Given the description of an element on the screen output the (x, y) to click on. 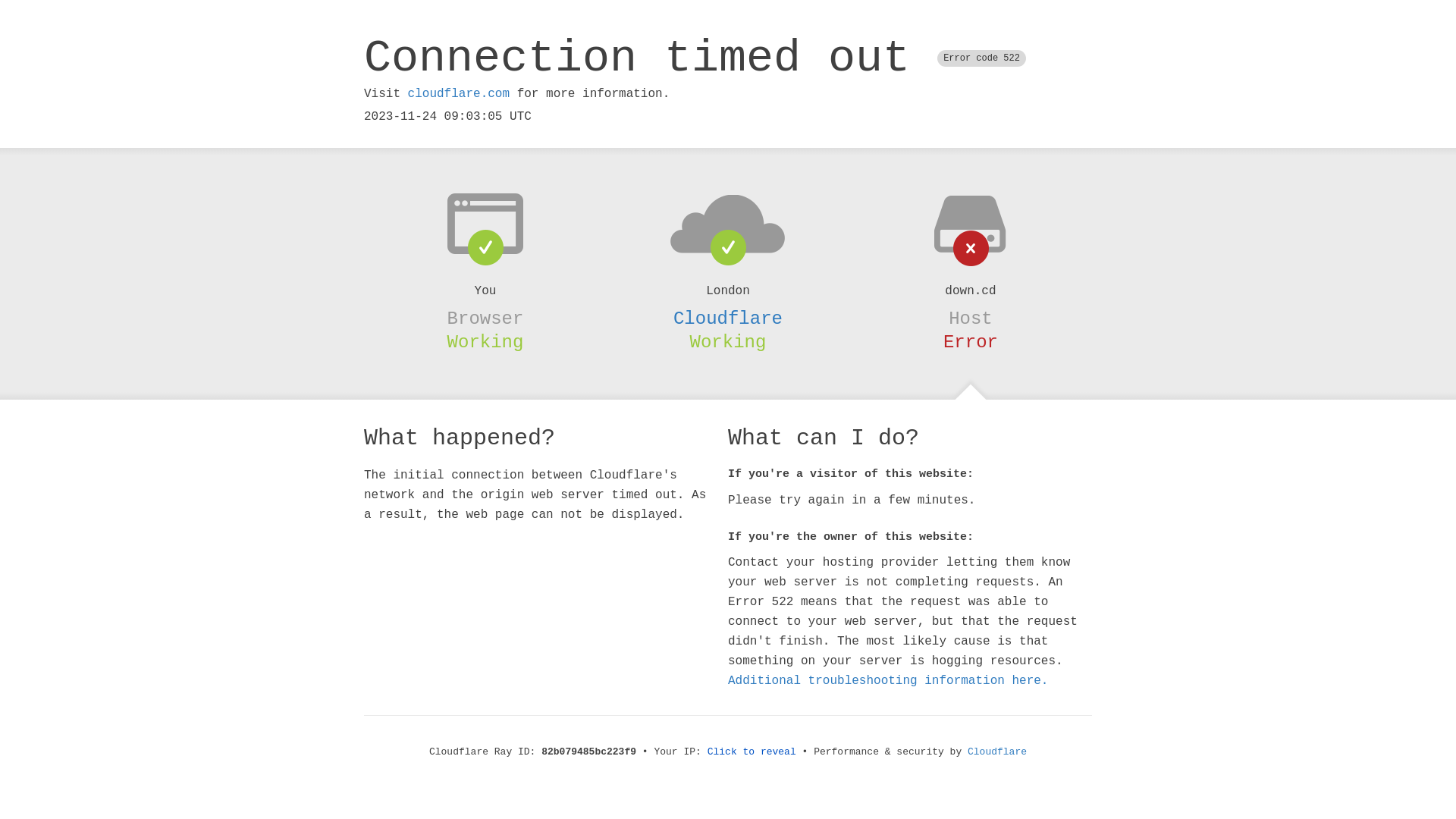
Click to reveal Element type: text (751, 751)
Cloudflare Element type: text (996, 751)
Cloudflare Element type: text (727, 318)
Additional troubleshooting information here. Element type: text (888, 680)
cloudflare.com Element type: text (458, 93)
